Given the description of an element on the screen output the (x, y) to click on. 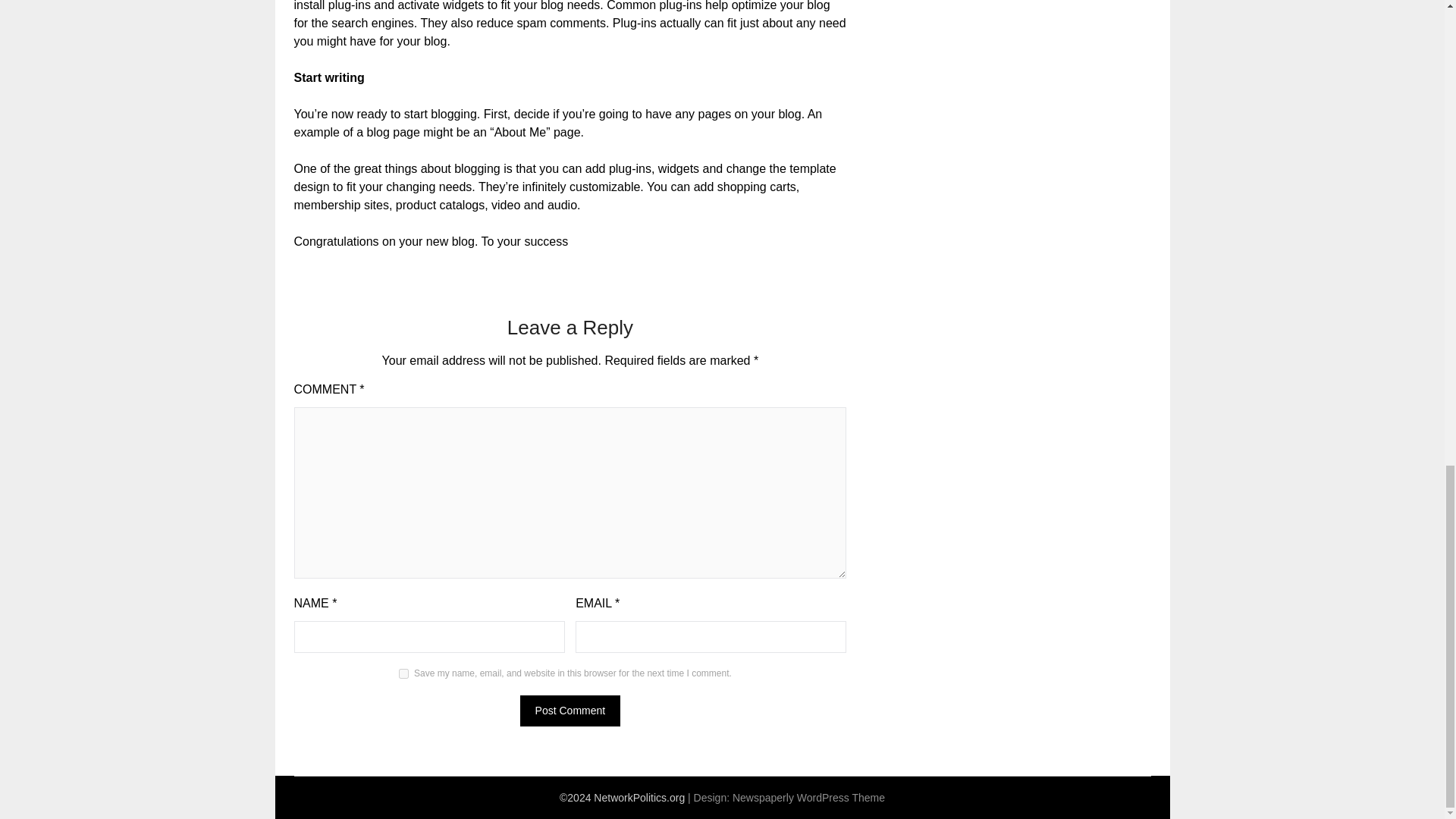
yes (403, 673)
Post Comment (570, 710)
Post Comment (570, 710)
Newspaperly WordPress Theme (808, 797)
